Given the description of an element on the screen output the (x, y) to click on. 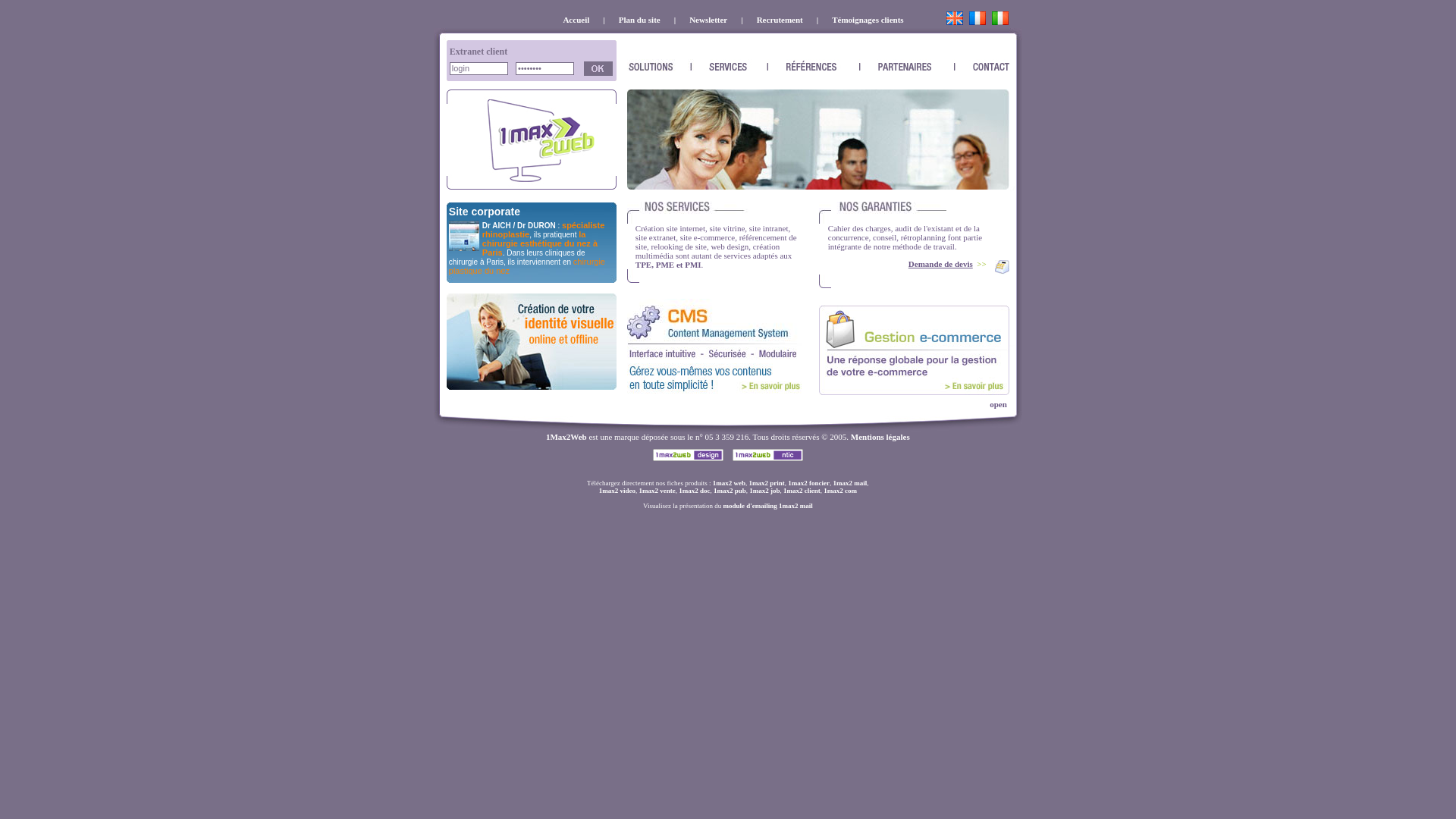
Solutions site internet Element type: hover (714, 212)
1max2 pub Element type: text (729, 490)
Plan du site Element type: hover (818, 50)
Contact technique Element type: hover (439, 34)
Contact candidature Element type: hover (621, 216)
Services maintenance Element type: hover (714, 352)
open Element type: text (972, 402)
Solutions cd-rom Element type: hover (614, 60)
1max2 job Element type: text (764, 490)
1max2 doc Element type: text (693, 490)
Recrutement Element type: text (779, 19)
1max2 com Element type: text (839, 490)
Partenaires Element type: hover (810, 345)
Services gestion e-commerce Element type: hover (914, 385)
audit de l'existant Element type: text (923, 227)
Solutions site vitrine Element type: hover (733, 19)
Solutions site extranet Element type: hover (749, 19)
Contact candidature Element type: hover (727, 421)
site e-commerce Element type: text (707, 236)
Contact assistance Element type: hover (914, 361)
Solutions site web Element type: hover (667, 19)
1max2 video Element type: text (617, 490)
Solutions site e-commerce Element type: hover (714, 275)
Solutions site extranet Element type: hover (449, 76)
Solutions site e-commerce Element type: hover (449, 59)
site extranet Element type: text (655, 236)
Solutions site internet Element type: hover (611, 19)
Services maintenance Element type: hover (446, 85)
1max2 print Element type: text (766, 482)
Contact technique Element type: hover (433, 444)
Solutions cd-rom Element type: hover (823, 248)
Solutions cd-rom Element type: hover (809, 19)
Solutions site web Element type: hover (631, 246)
Contact client Element type: hover (727, 34)
Services audit conseil Element type: hover (911, 19)
Services referencement Element type: hover (914, 281)
Contact devis site internet Element type: hover (914, 322)
Translate into english Element type: hover (954, 18)
Solutions site vitrine Element type: hover (810, 244)
Services hebergement Element type: hover (614, 79)
Solutions site internet Element type: hover (447, 60)
Contact technique Element type: hover (727, 471)
Demande de devis Element type: text (940, 263)
Accueil Element type: text (575, 19)
1max2 vente Element type: text (656, 490)
Solutions site web Element type: hover (449, 44)
Services hebergement Element type: hover (714, 319)
Solutions site extranet Element type: hover (914, 212)
Solutions site e-commerce Element type: hover (682, 19)
Contact technique Element type: hover (767, 454)
Contact technique Element type: hover (446, 287)
site vitrine Element type: text (727, 227)
password Element type: text (544, 68)
Solutions site vitrine Element type: hover (511, 68)
Contact candidature Element type: hover (1015, 34)
Newsletter Element type: text (708, 19)
Services formation Element type: hover (531, 139)
site intranet Element type: text (768, 227)
1max2 client Element type: text (801, 490)
Contact client Element type: hover (1015, 218)
Plan du site Element type: hover (439, 218)
mannequins de vtrine Element type: text (520, 256)
Services gestion e-commerce Element type: hover (914, 389)
Traduca in italiano Element type: hover (999, 20)
1max2 mail Element type: text (850, 482)
1max2 web Element type: text (728, 482)
Plan du site Element type: text (639, 19)
Services referencement Element type: hover (447, 79)
Traduca in italiano Element type: hover (999, 18)
Contact technique Element type: hover (627, 395)
module d'emailing Element type: text (749, 505)
1max2 foncier Element type: text (808, 482)
1max2 mail Element type: text (795, 505)
Contact assistance Element type: hover (1018, 19)
Contact technique Element type: hover (687, 454)
Partenaires Element type: hover (446, 189)
login Element type: text (478, 68)
Contact devis site internet Element type: hover (446, 196)
Services audit conseil Element type: hover (627, 293)
Services referencement Element type: hover (824, 19)
Contact client Element type: hover (531, 341)
relooking de site Element type: text (678, 246)
Mannequins de vitrine et agencement magasin Element type: text (547, 233)
Services audit conseil Element type: hover (531, 79)
Translate into english Element type: hover (954, 20)
